Given the description of an element on the screen output the (x, y) to click on. 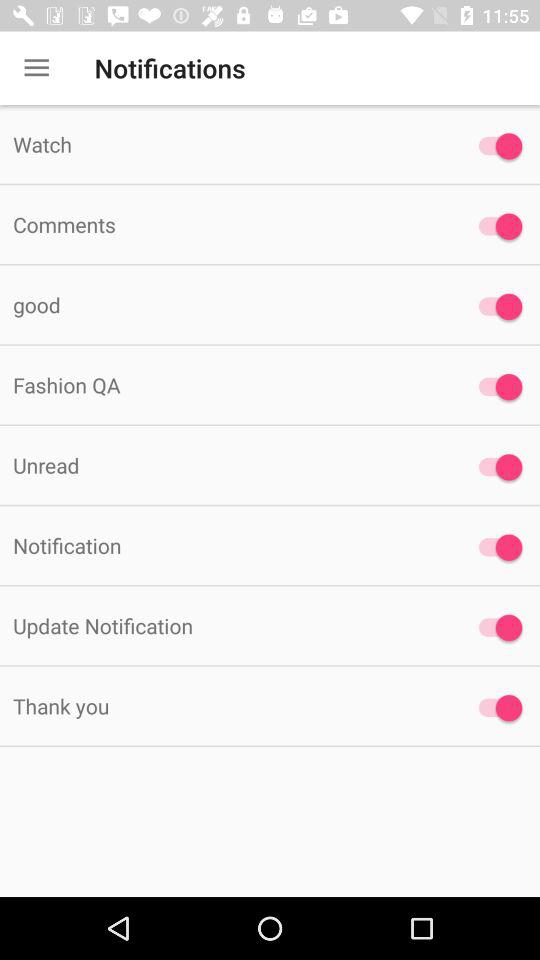
turn on icon above the comments (225, 144)
